Given the description of an element on the screen output the (x, y) to click on. 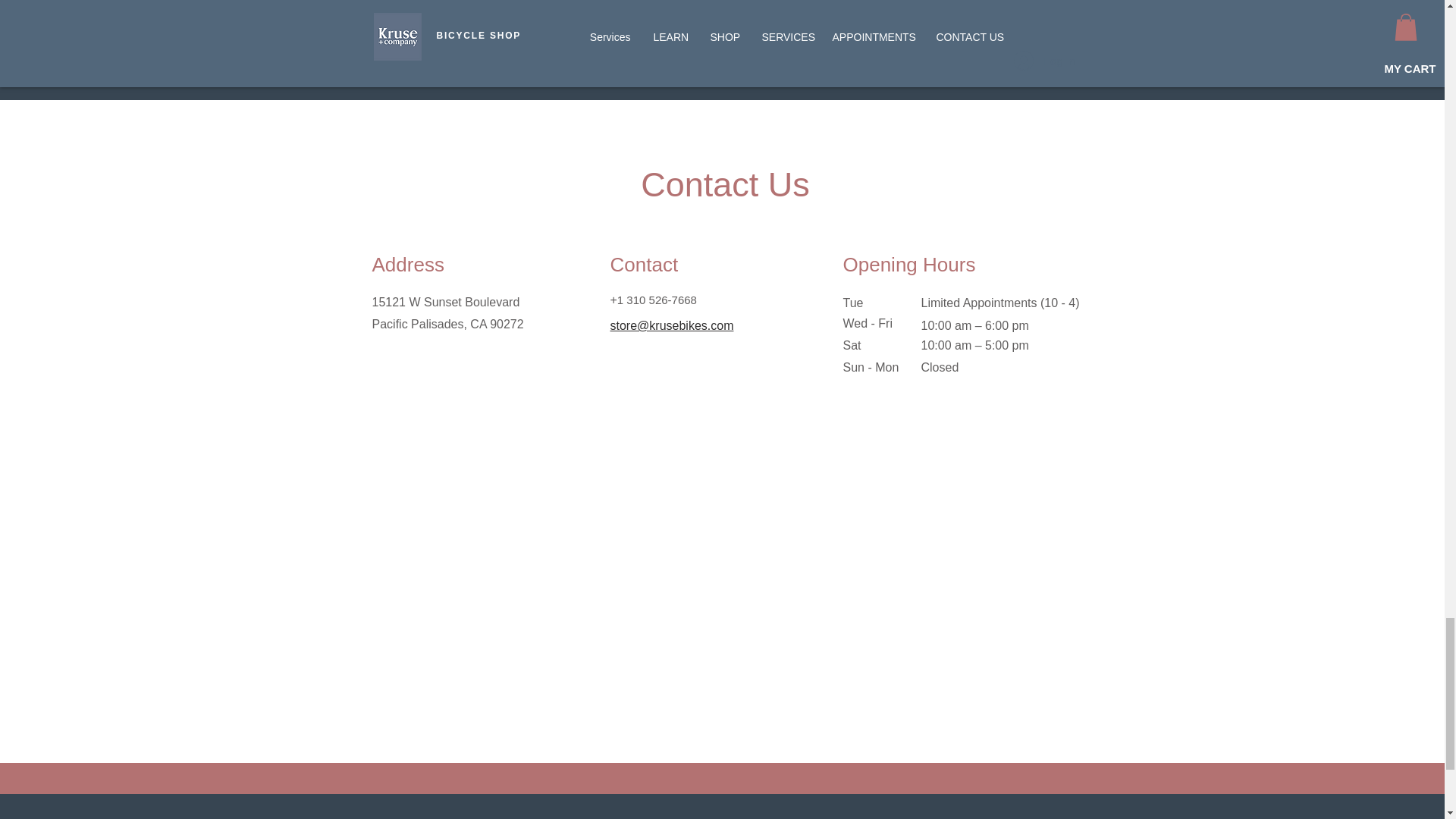
GRO2209sdk-1178.jpg (862, 27)
